Given the description of an element on the screen output the (x, y) to click on. 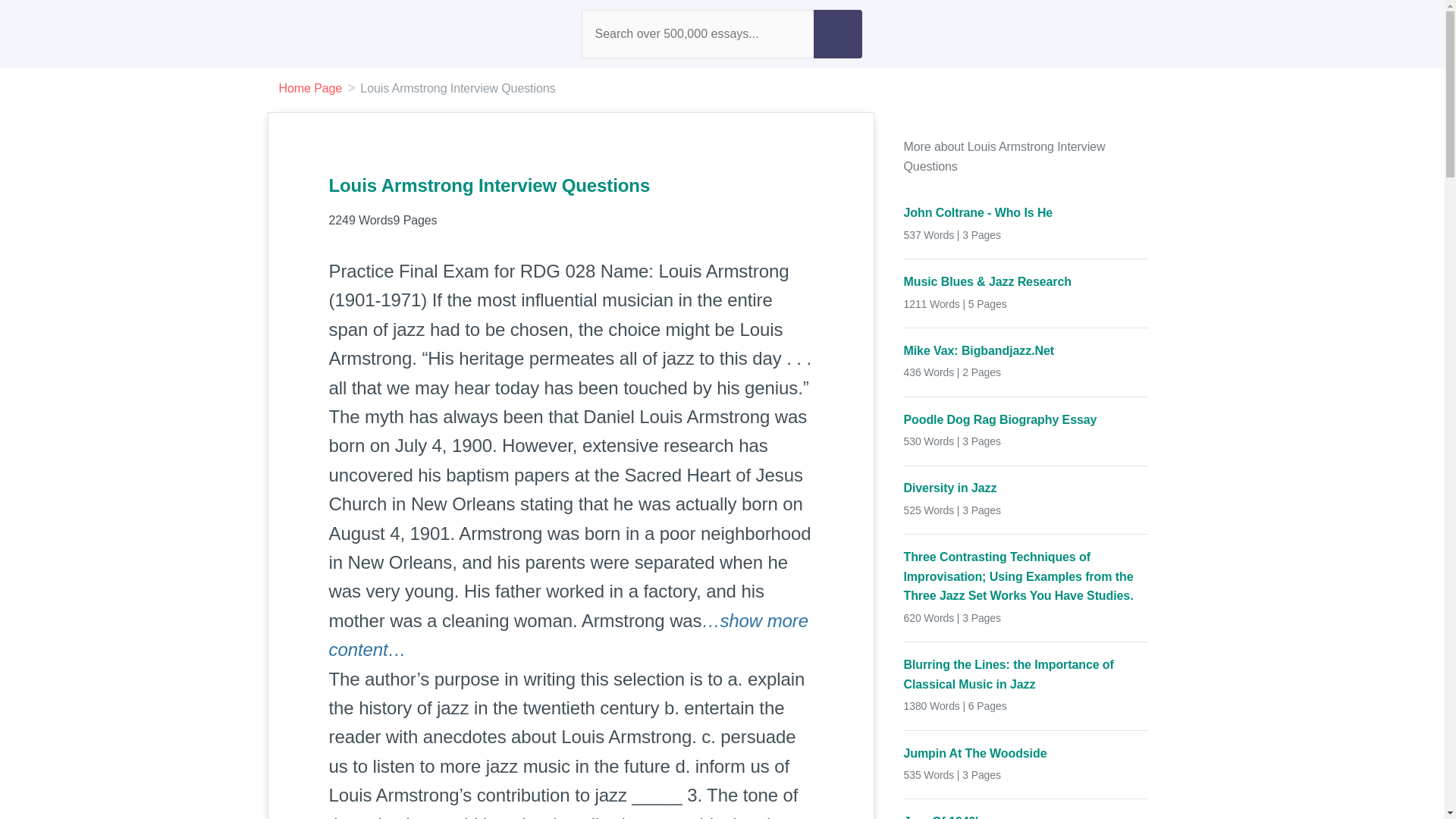
Jumpin At The Woodside (1026, 752)
Mike Vax: Bigbandjazz.Net (1026, 351)
Poodle Dog Rag Biography Essay (1026, 419)
Jazz Of 1940's (1026, 815)
Home Page (310, 88)
John Coltrane - Who Is He (1026, 212)
Diversity in Jazz (1026, 487)
